Given the description of an element on the screen output the (x, y) to click on. 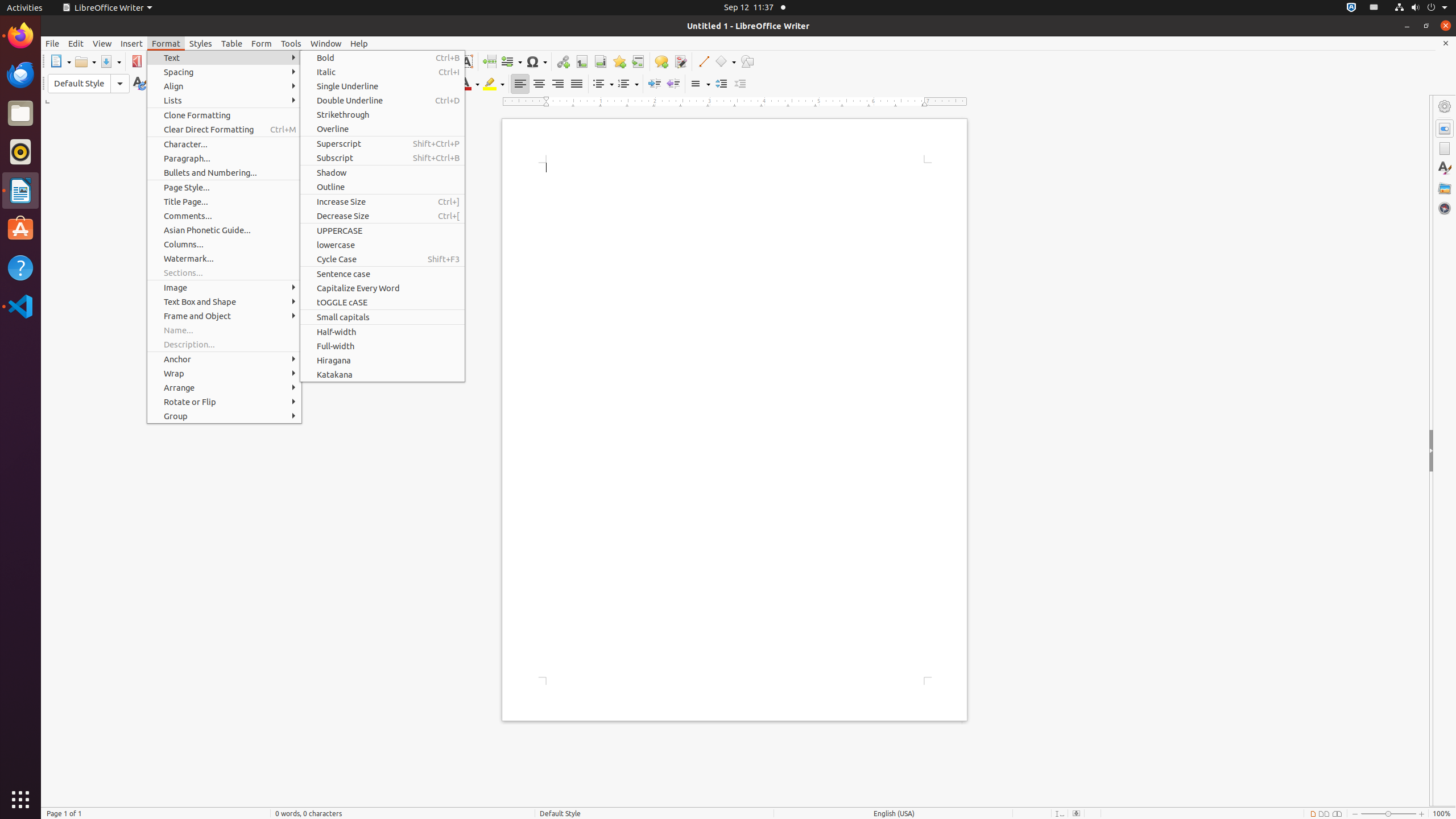
Insert Element type: menu (131, 43)
Lists Element type: menu (224, 100)
Endnote Element type: push-button (599, 61)
Bookmark Element type: push-button (618, 61)
Basic Shapes Element type: push-button (724, 61)
